Given the description of an element on the screen output the (x, y) to click on. 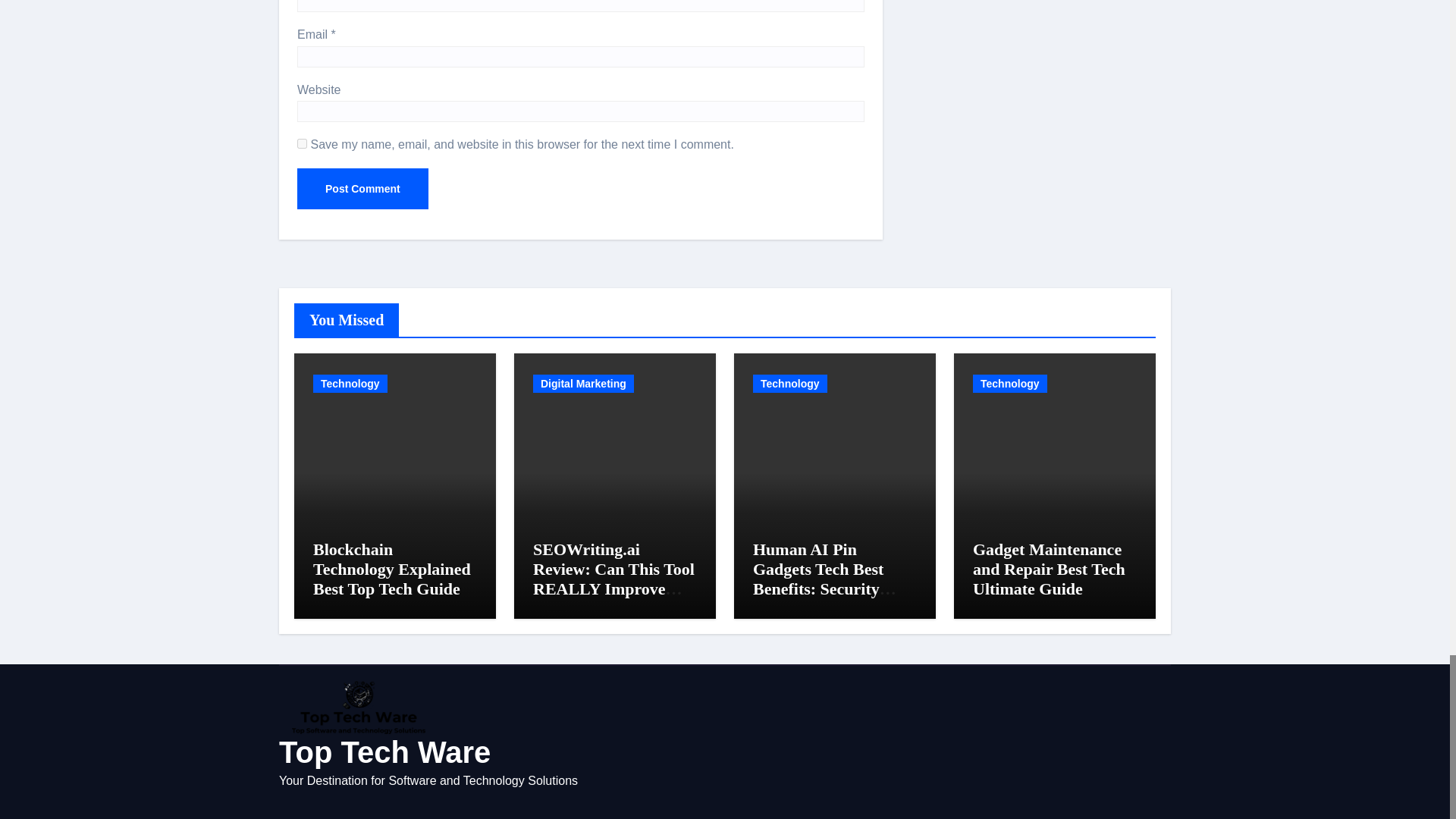
Post Comment (362, 188)
yes (302, 143)
